Given the description of an element on the screen output the (x, y) to click on. 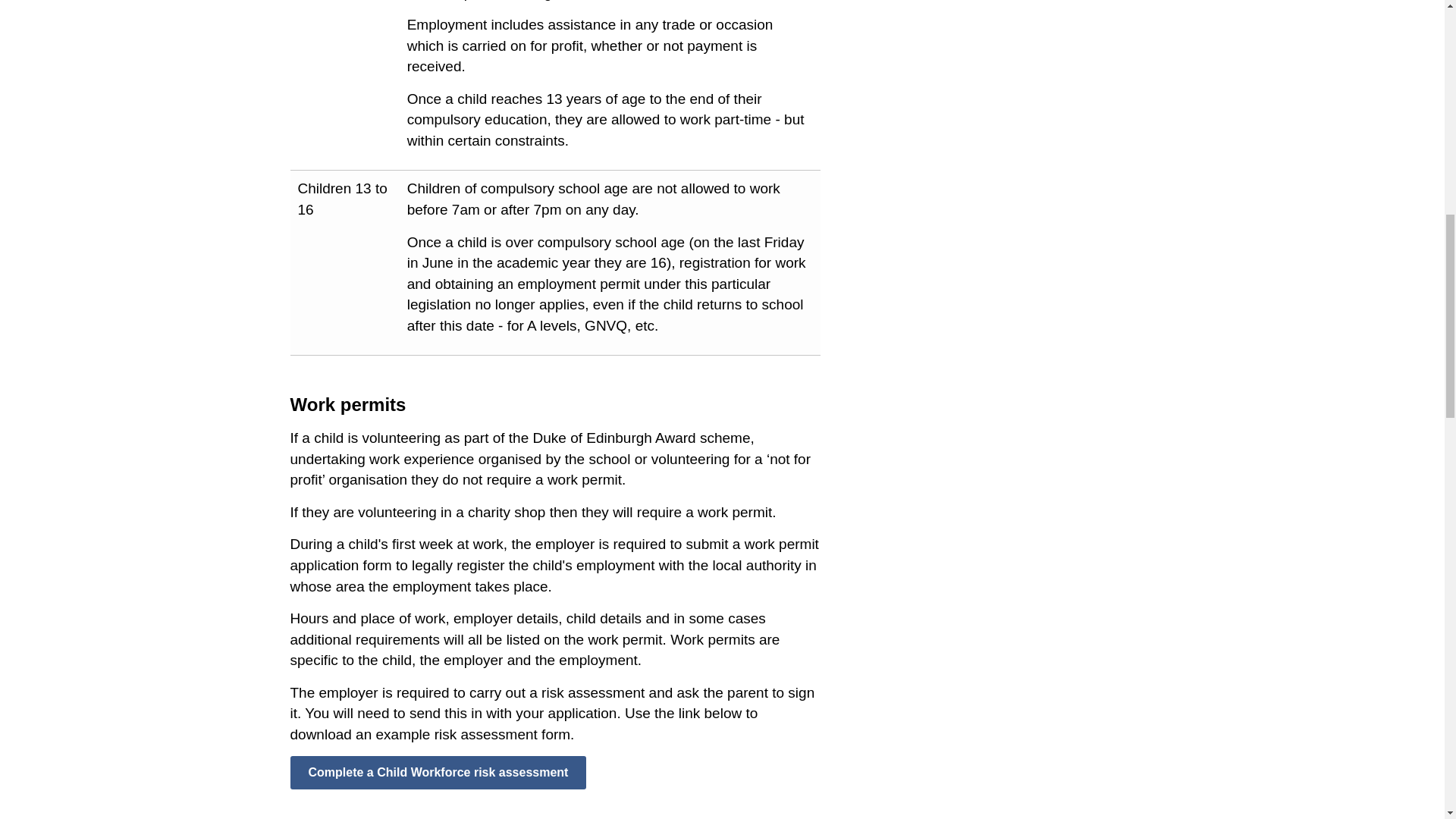
Complete a Child Workforce risk assessment (437, 772)
Complete a Child Workforce risk assessment (437, 772)
